Given the description of an element on the screen output the (x, y) to click on. 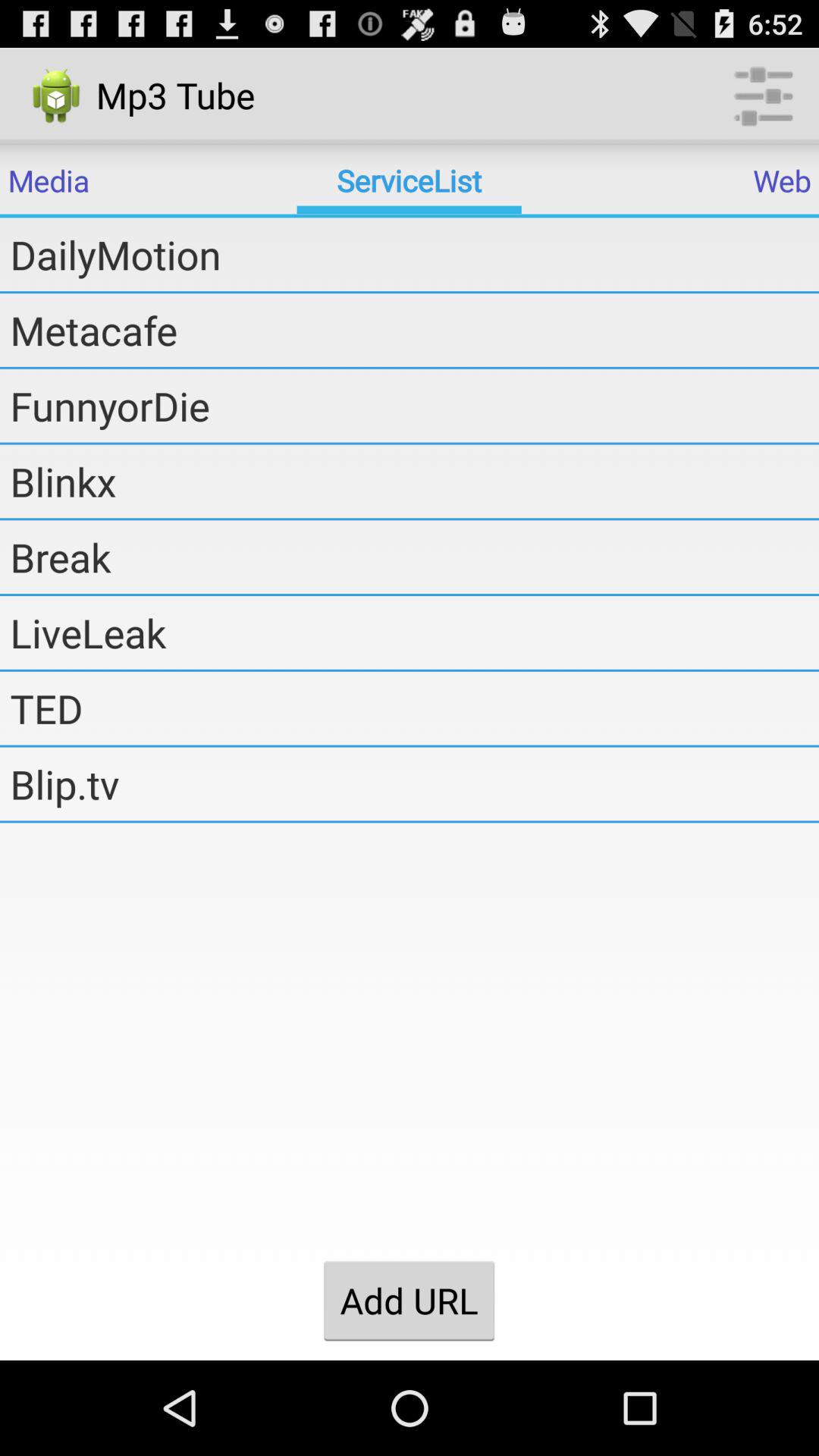
choose the blinkx icon (414, 481)
